Given the description of an element on the screen output the (x, y) to click on. 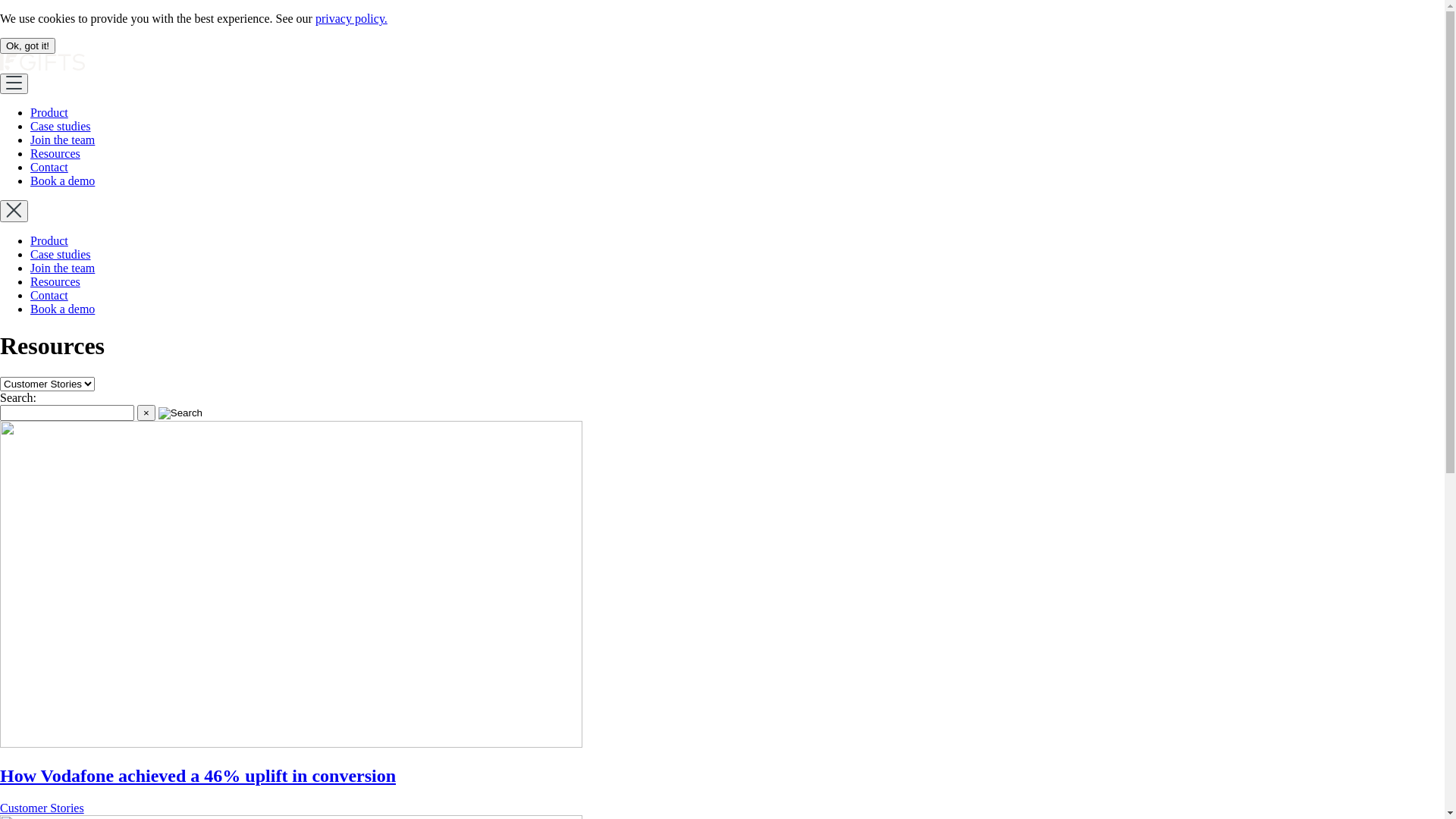
Book a demo Element type: text (62, 308)
Product Element type: text (49, 112)
Join the team Element type: text (62, 267)
15g_Logo Element type: text (42, 65)
Contact Element type: text (49, 294)
How Vodafone achieved a 46% uplift in conversion Element type: text (197, 775)
Book a demo Element type: text (62, 180)
UI Icon/Menu Element type: text (14, 211)
Contact Element type: text (49, 166)
Ok, got it! Element type: text (27, 45)
Customer Stories Element type: text (42, 807)
Case studies Element type: text (60, 253)
Join the team Element type: text (62, 139)
Resources Element type: text (55, 153)
Case studies Element type: text (60, 125)
UI Icon/Menu Element type: text (14, 83)
Resources Element type: text (55, 281)
Product Element type: text (49, 240)
privacy policy. Element type: text (351, 18)
